Given the description of an element on the screen output the (x, y) to click on. 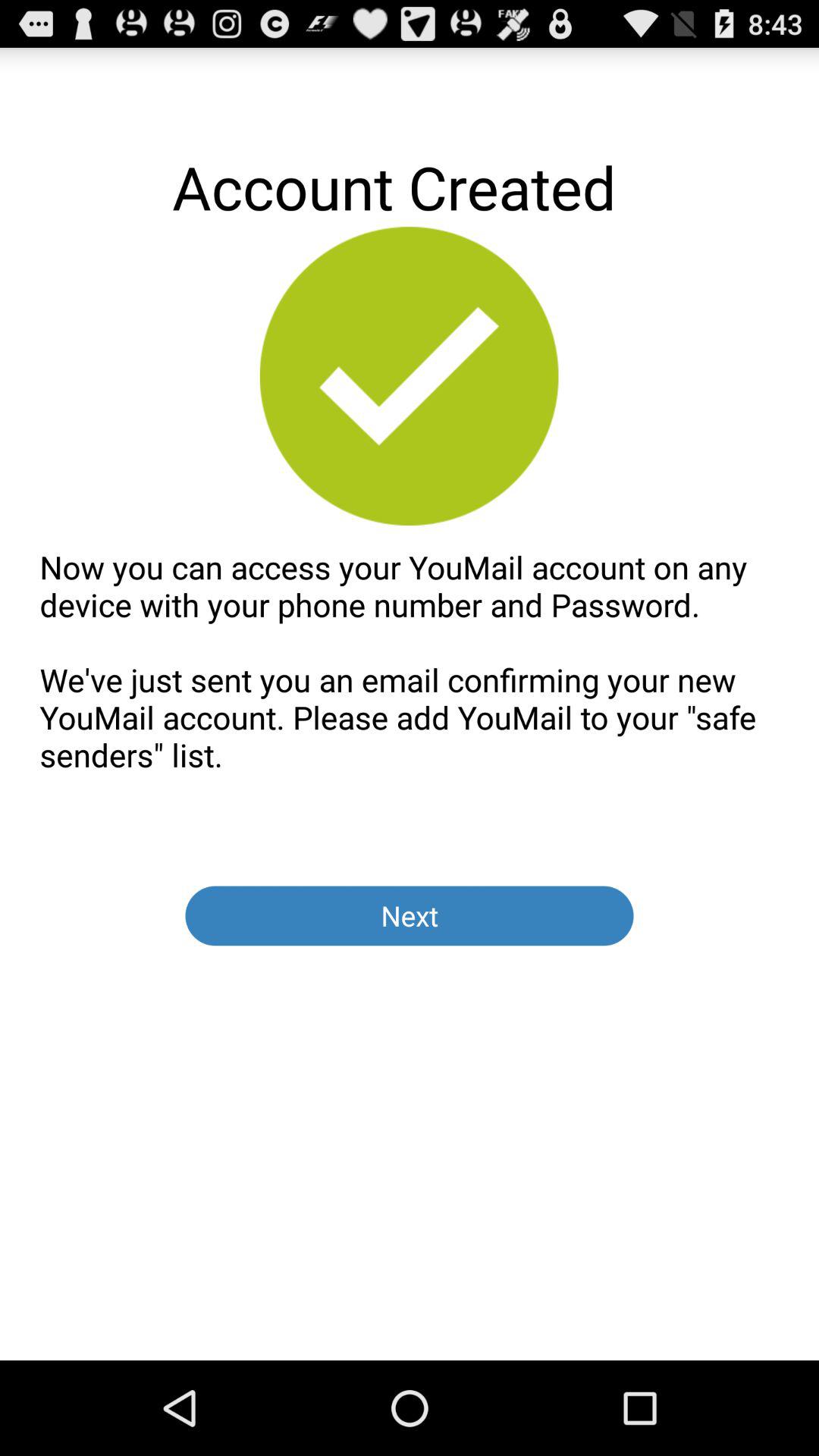
select app below now you can item (409, 915)
